Given the description of an element on the screen output the (x, y) to click on. 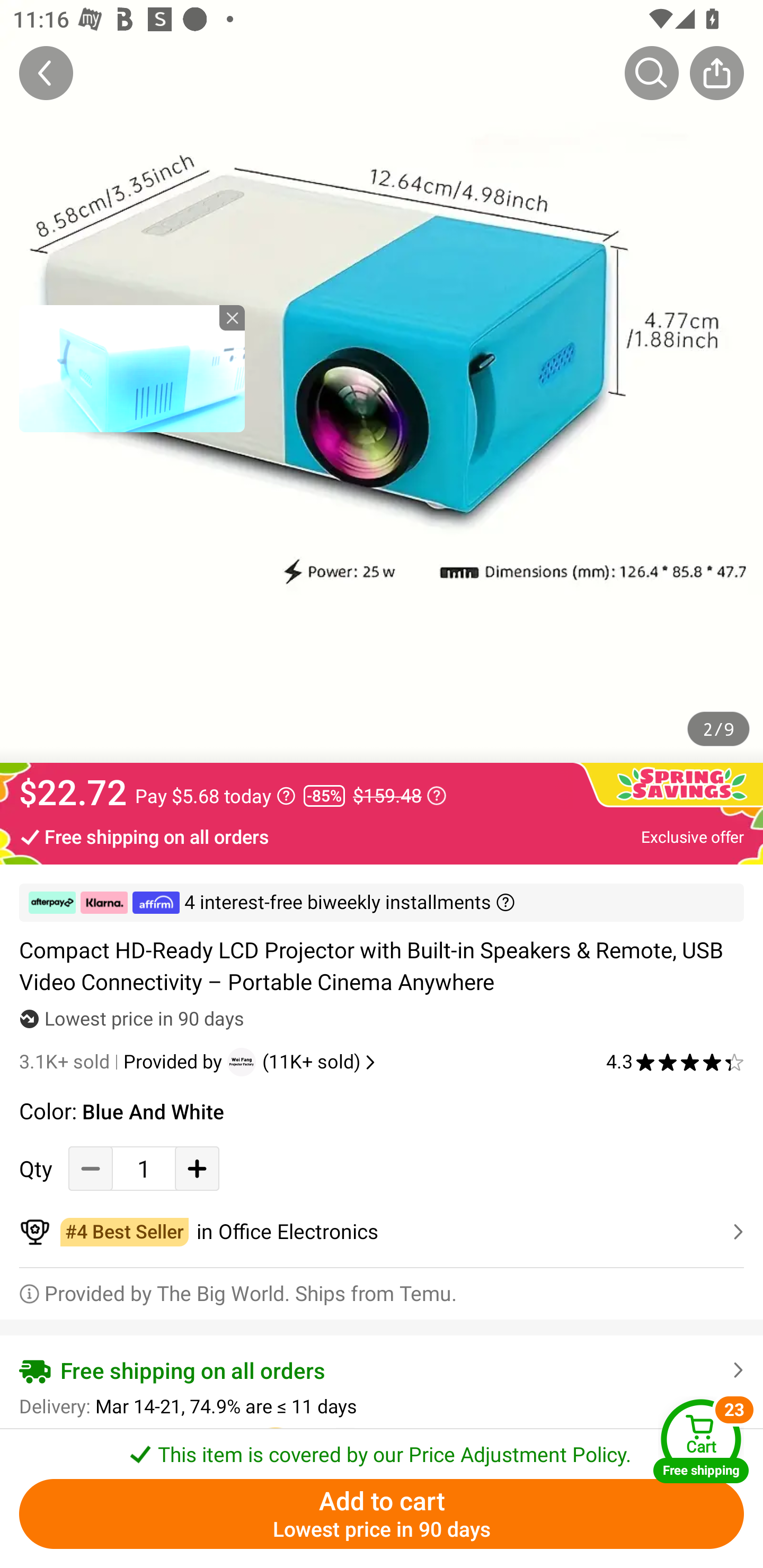
Back (46, 72)
Share (716, 72)
tronplayer_view (131, 368)
Pay $5.68 today   (215, 795)
Free shipping on all orders Exclusive offer (381, 836)
￼ ￼ ￼ 4 interest-free biweekly installments ￼ (381, 902)
3.1K+ sold Provided by  (123, 1061)
4.3 (674, 1061)
Decrease Quantity Button (90, 1168)
1 (143, 1168)
Add Quantity button (196, 1168)
￼￼in Office Electronics (381, 1231)
Cart Free shipping Cart (701, 1440)
Add to cart Lowest price in 90 days (381, 1513)
